Given the description of an element on the screen output the (x, y) to click on. 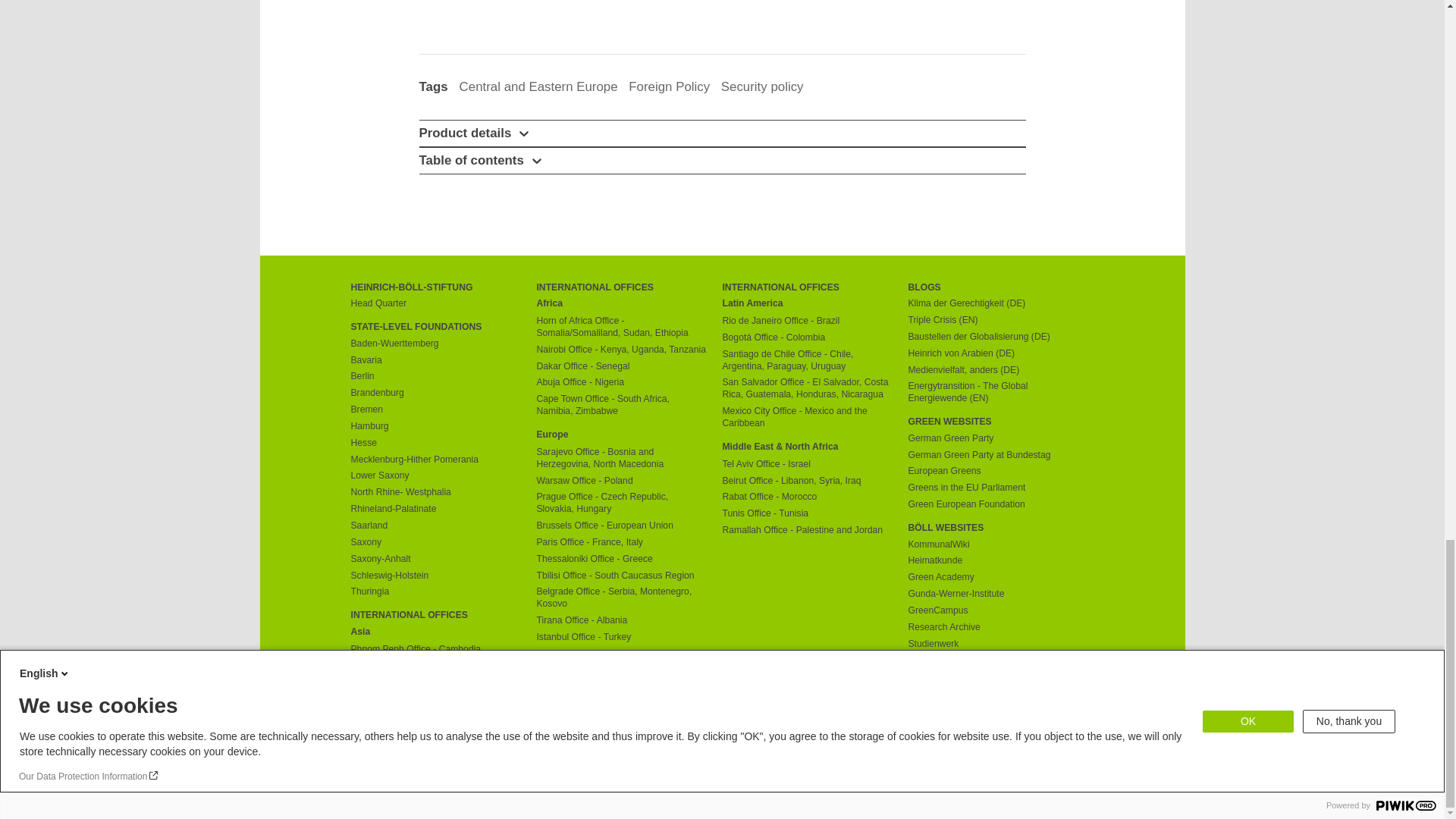
Hamburg (435, 426)
Lower Saxony (435, 476)
Baden-Wuerttemberg (435, 344)
Berlin (435, 377)
Head Quarter (435, 304)
Bremen (435, 410)
Saxony (435, 542)
Foreign Policy (669, 86)
Central and Eastern Europe (538, 86)
Rhineland-Palatinate (435, 509)
Saxony-Anhalt (435, 559)
Bavaria (435, 360)
Mecklenburg-Hither Pomerania (435, 460)
Saarland (435, 526)
Security policy (761, 86)
